Given the description of an element on the screen output the (x, y) to click on. 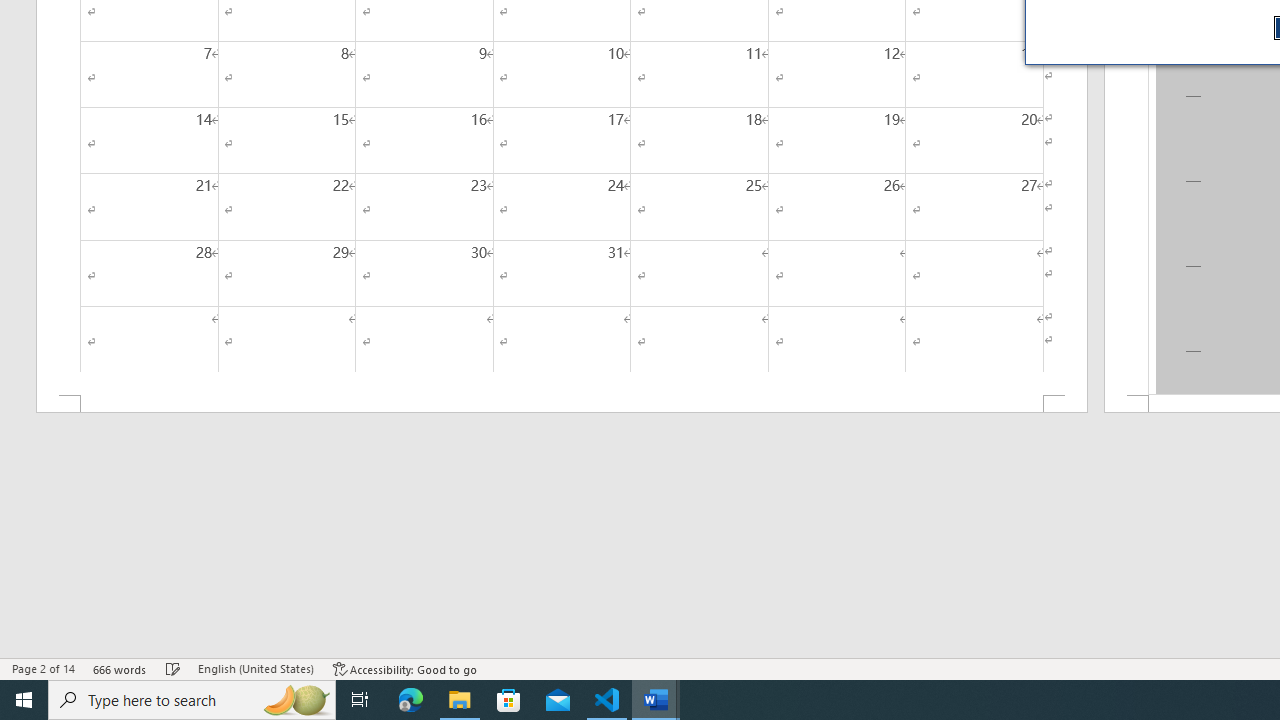
Word - 2 running windows (656, 699)
Page Number Page 2 of 14 (43, 668)
